Given the description of an element on the screen output the (x, y) to click on. 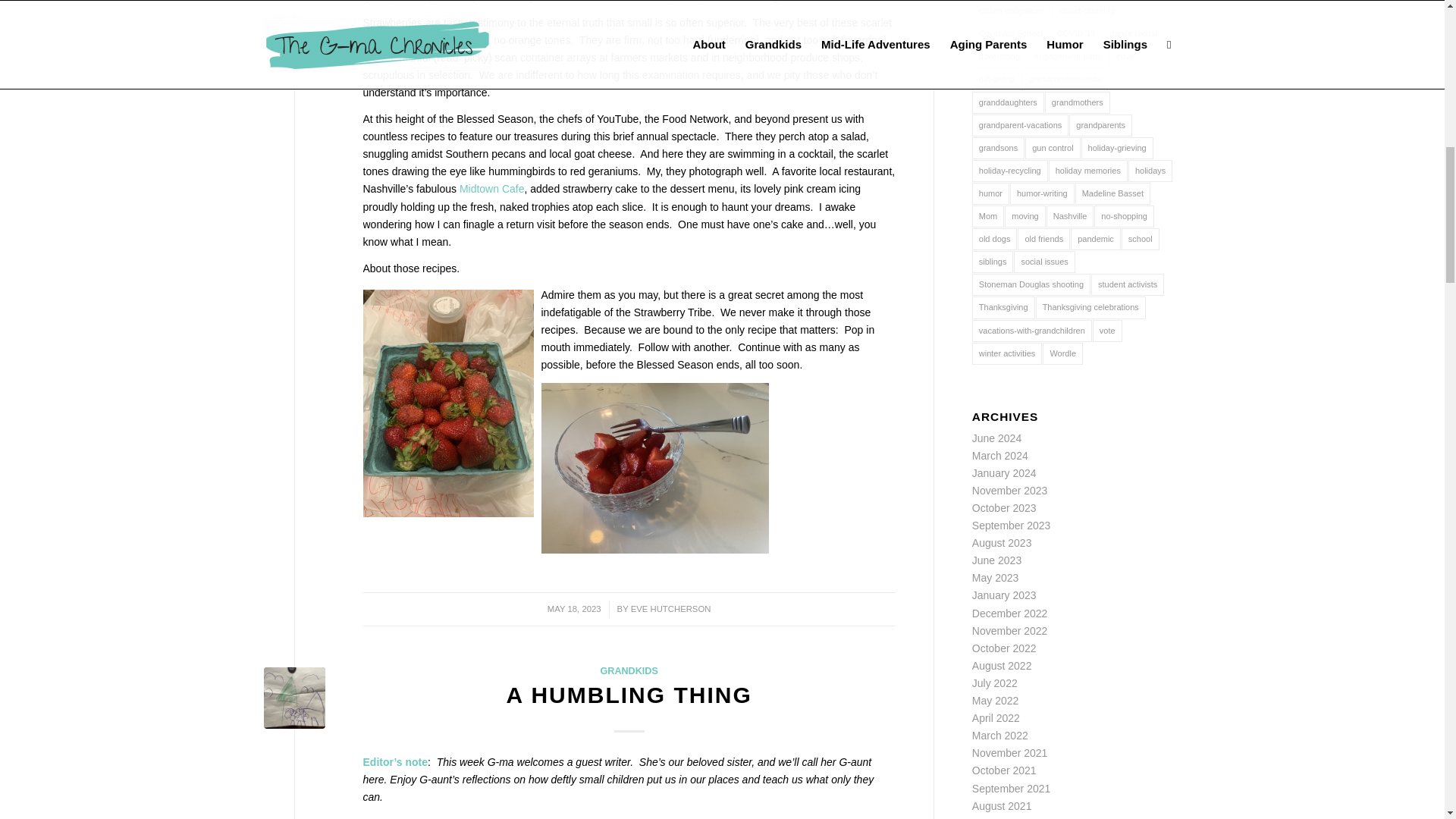
Midtown Cafe (492, 188)
Posts by Eve Hutcherson (670, 608)
GRANDKIDS (628, 670)
Permanent Link: A Humbling Thing (629, 694)
EVE HUTCHERSON (670, 608)
A HUMBLING THING (629, 694)
